Given the description of an element on the screen output the (x, y) to click on. 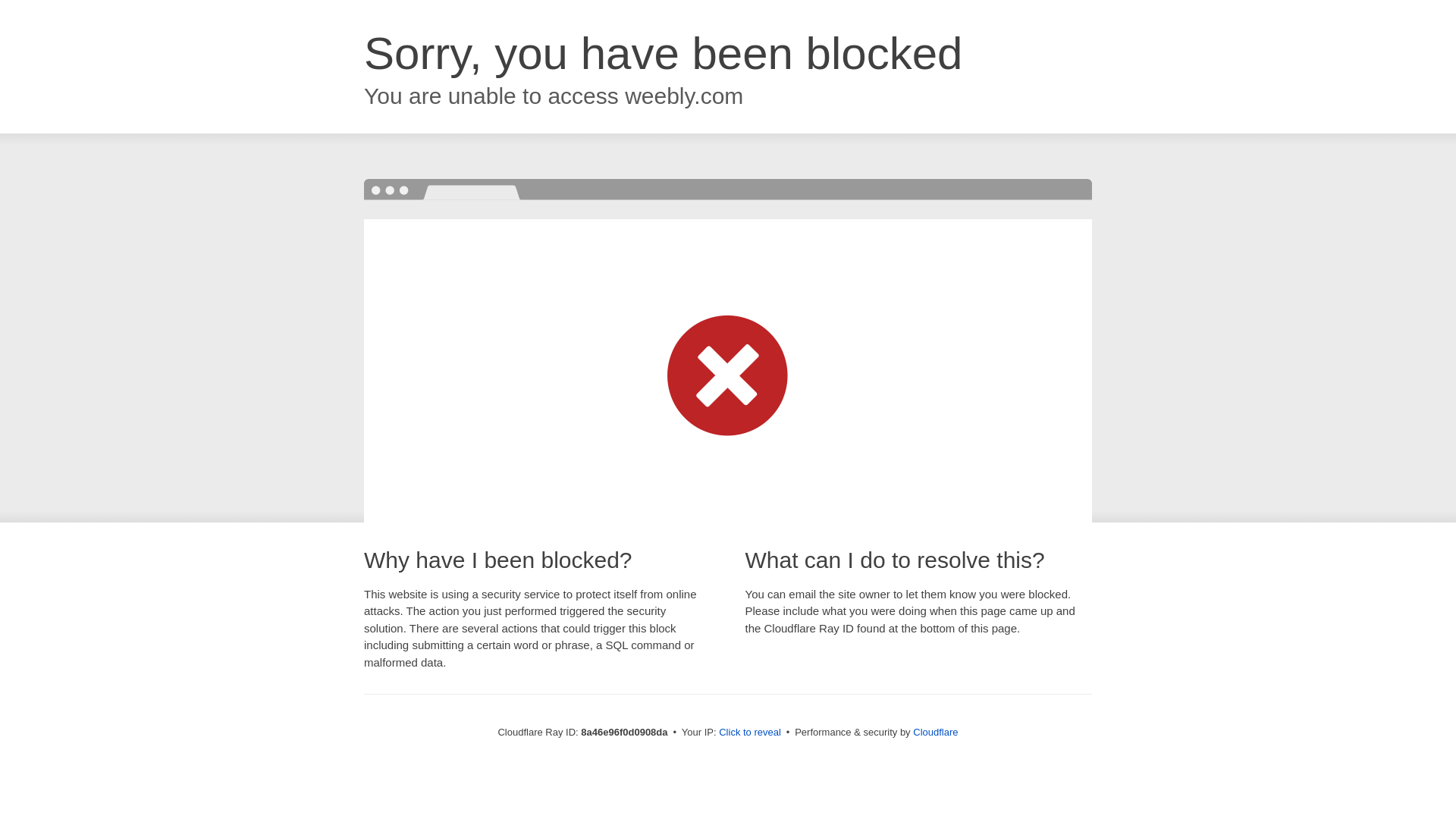
Click to reveal (749, 732)
Cloudflare (935, 731)
